Given the description of an element on the screen output the (x, y) to click on. 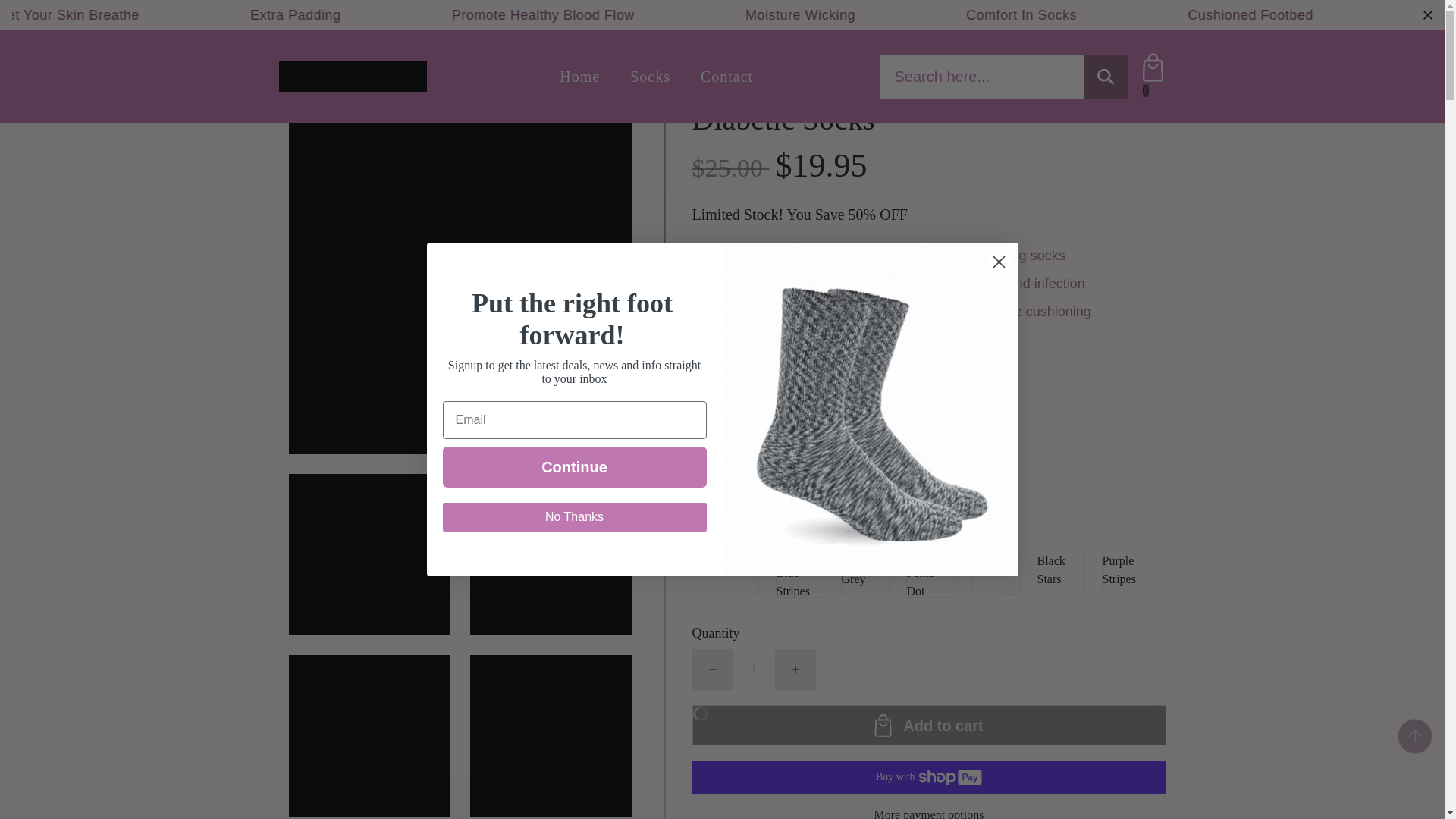
More payment options (928, 812)
Home (579, 76)
Add to cart (928, 725)
Contact (656, 76)
1 (726, 76)
Socks (753, 669)
